Given the description of an element on the screen output the (x, y) to click on. 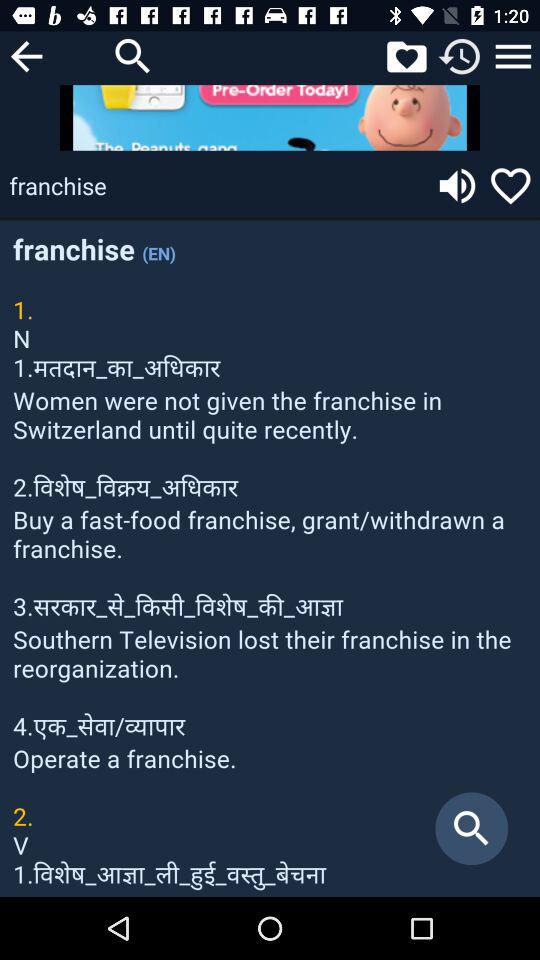
go to sound (457, 185)
